Given the description of an element on the screen output the (x, y) to click on. 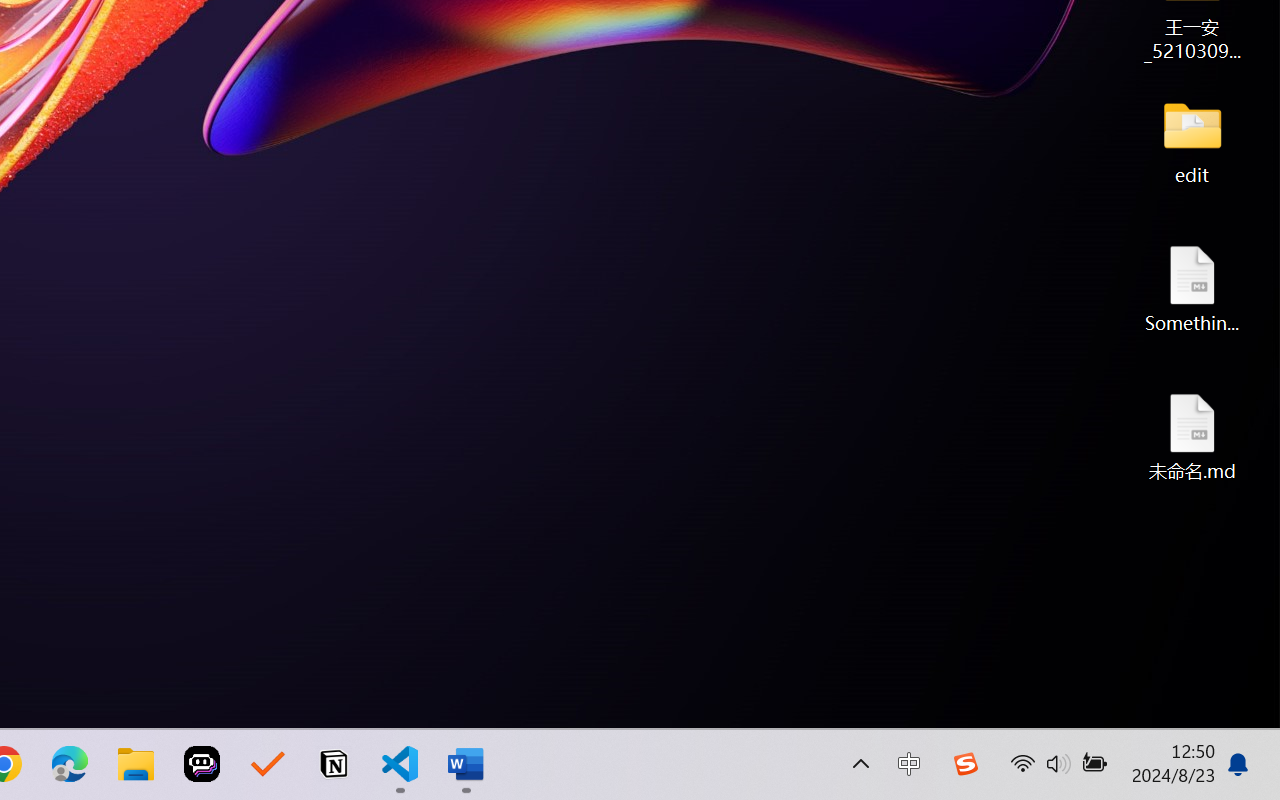
edit (1192, 140)
Microsoft Edge (69, 764)
Something.md (1192, 288)
